Given the description of an element on the screen output the (x, y) to click on. 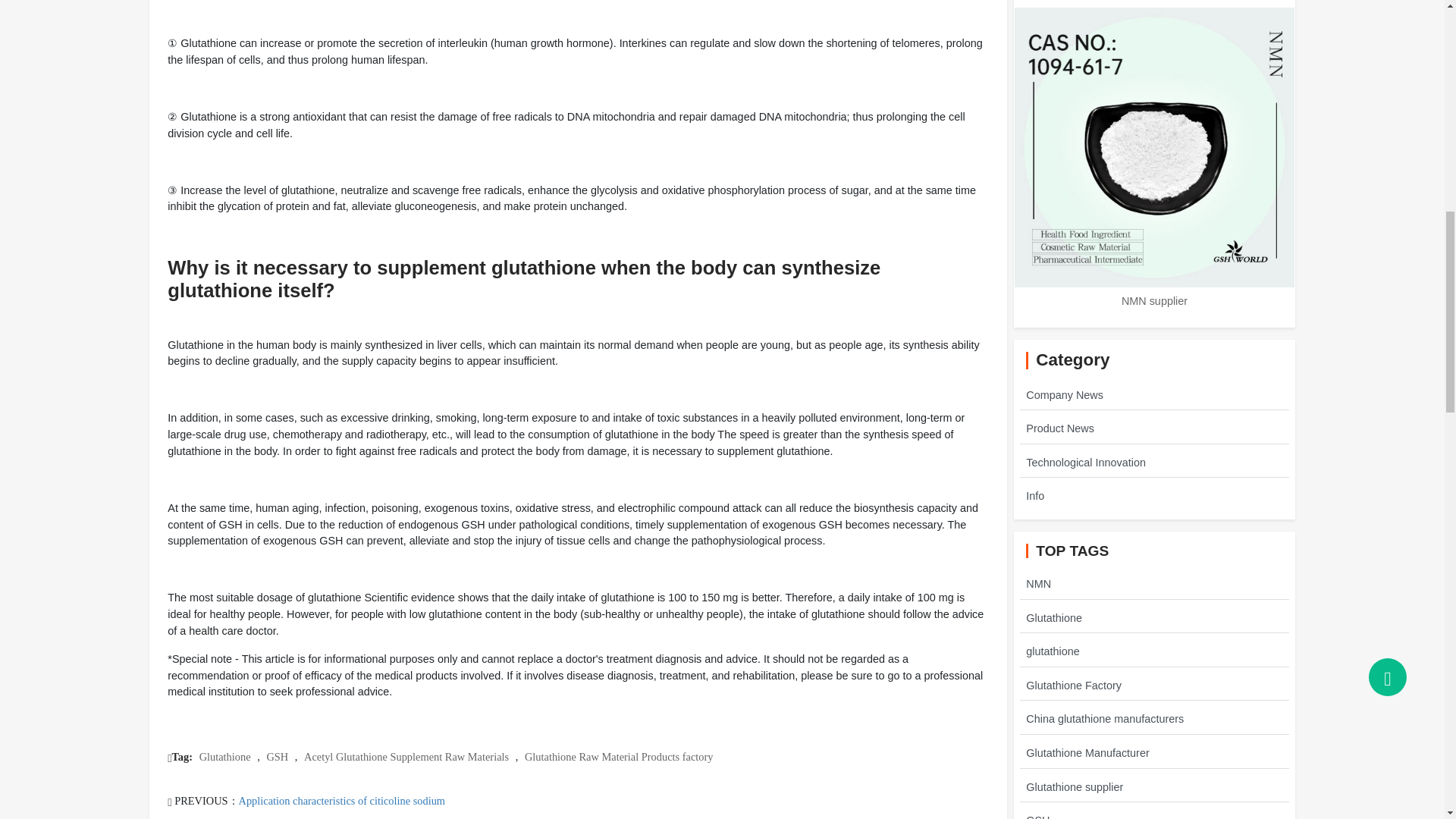
GSH (277, 756)
NMN supplier (1154, 300)
Glutathione (224, 756)
Acetyl Glutathione Supplement Raw Materials (406, 756)
Glutathione Raw Material Products factory (618, 756)
